Given the description of an element on the screen output the (x, y) to click on. 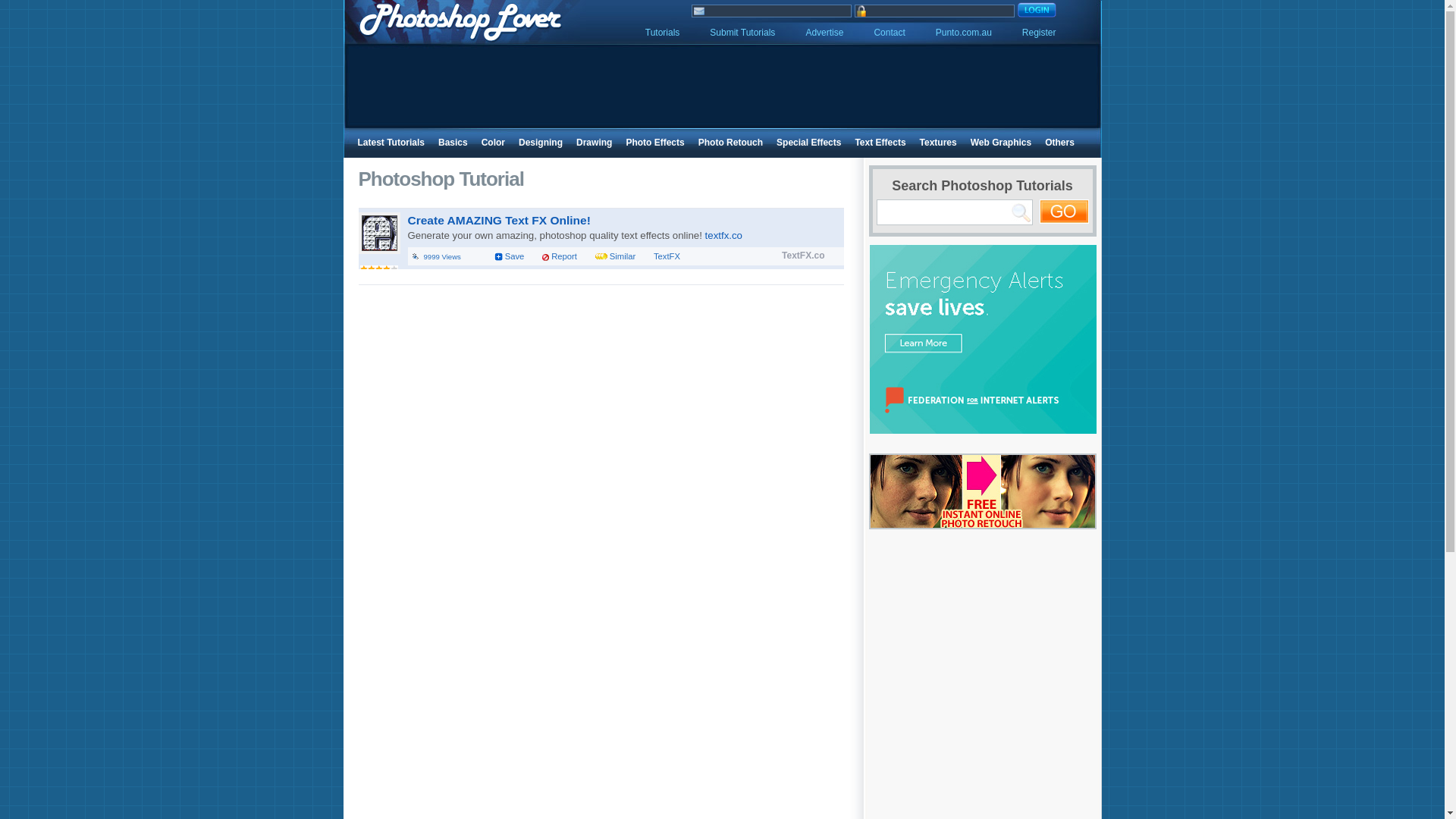
Photo Effects (655, 142)
Submit Tutorials (742, 32)
Register (1039, 32)
Photo Effects (655, 142)
Contact (888, 32)
Color (493, 142)
Advertise (824, 32)
TextFX.co (802, 255)
Create AMAZING Text FX Online! (499, 219)
Others (1059, 142)
Color (493, 142)
Latest Tutorials (391, 142)
Basics (452, 142)
Photoshop Tutorials (662, 32)
Submit (742, 32)
